Given the description of an element on the screen output the (x, y) to click on. 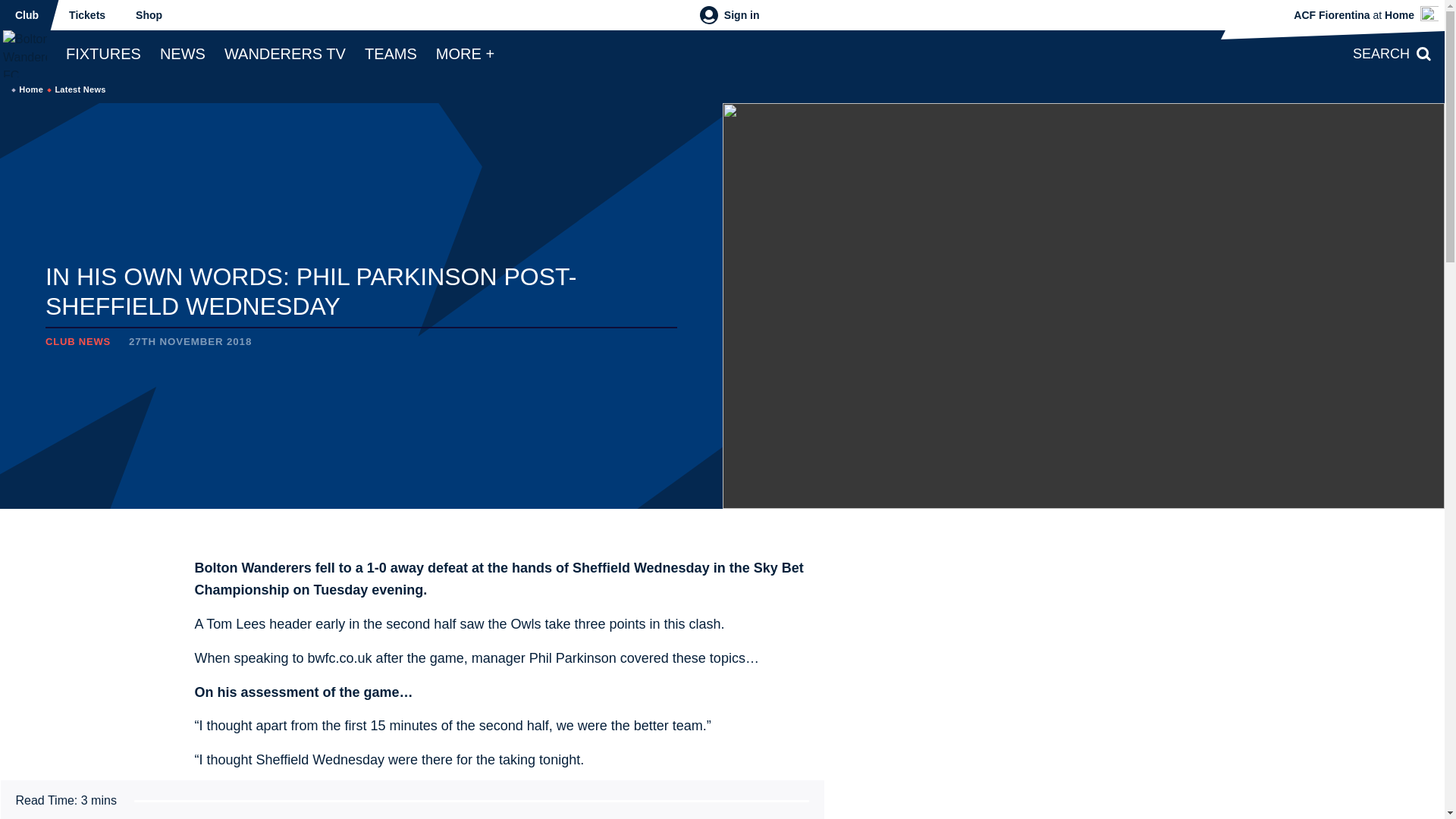
Back to home (25, 53)
Sign in (730, 15)
WANDERERS TV (285, 53)
Shop (148, 15)
NEWS (182, 53)
FIXTURES (103, 53)
News (182, 53)
Club (26, 15)
Tickets (86, 15)
Fixtures (103, 53)
